Given the description of an element on the screen output the (x, y) to click on. 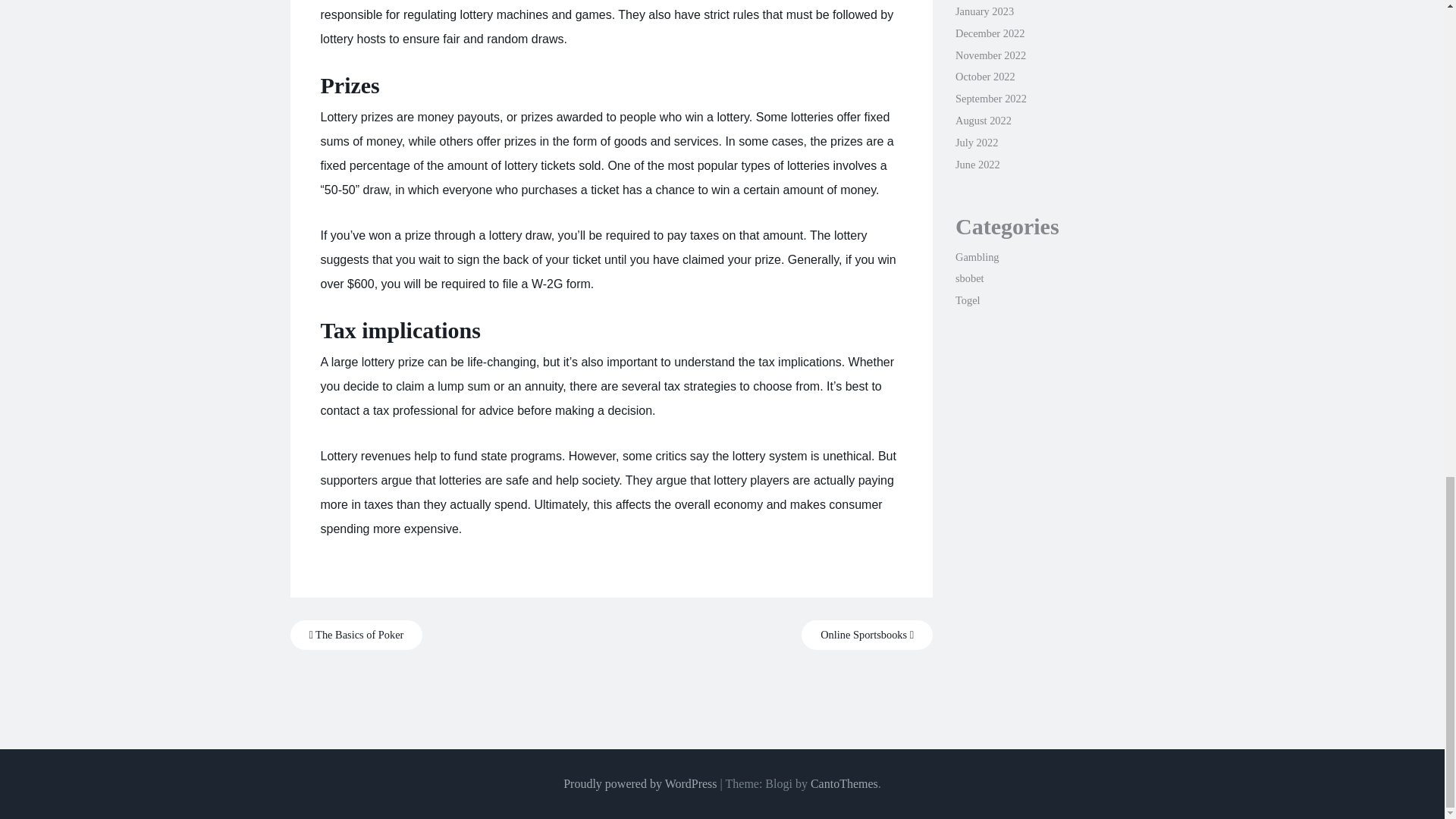
December 2022 (990, 33)
November 2022 (990, 55)
Online Sportsbooks (867, 634)
January 2023 (984, 10)
The Basics of Poker (355, 634)
